Given the description of an element on the screen output the (x, y) to click on. 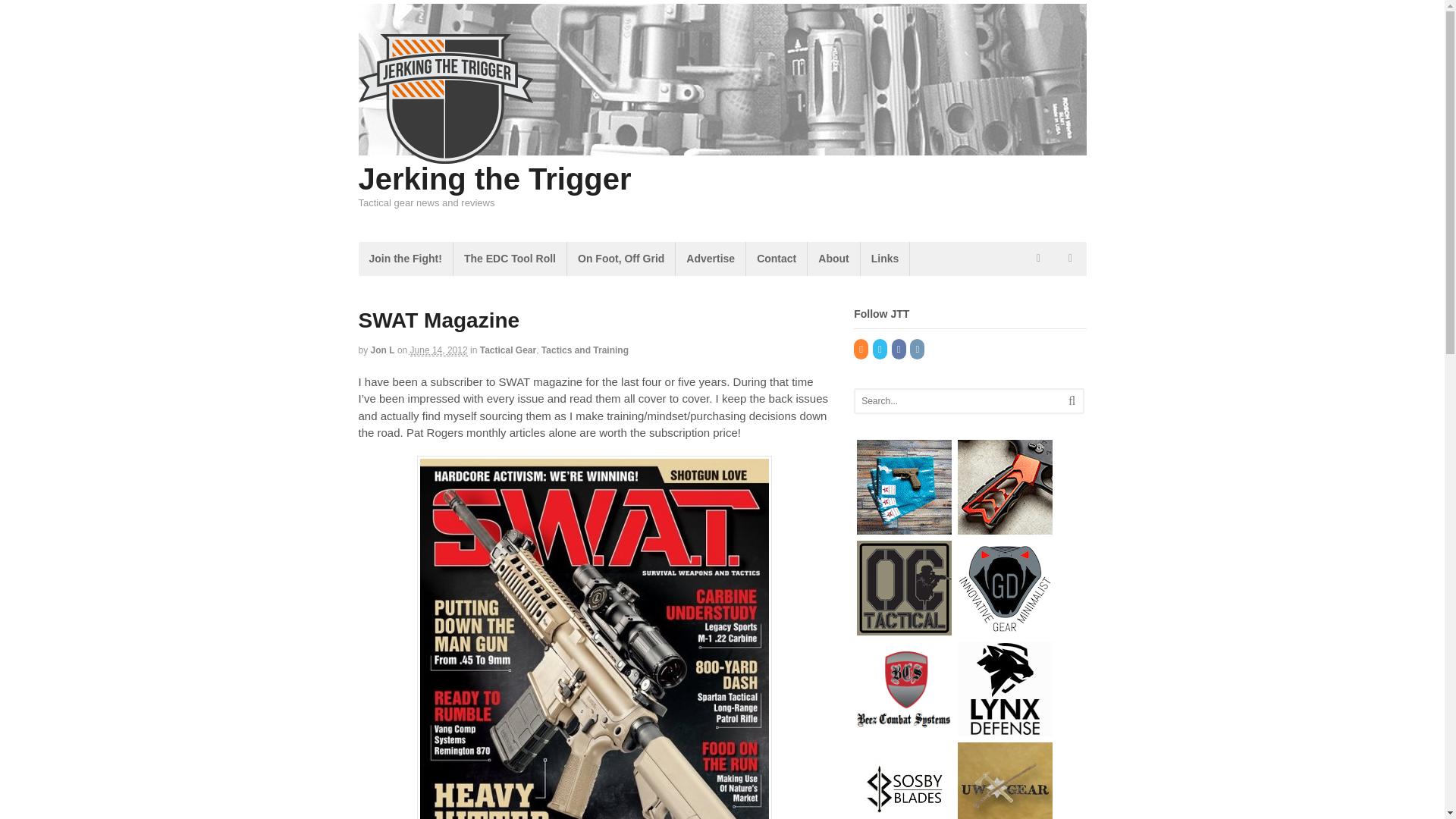
SWAT Magazine (593, 637)
Tactical gear news and reviews (445, 155)
Posts by Jon L (382, 349)
Advertise (710, 258)
Links (885, 258)
View all items in Tactics and Training (584, 349)
Search... (958, 400)
Tactical Gear (507, 349)
About (833, 258)
The EDC Tool Roll (509, 258)
